Given the description of an element on the screen output the (x, y) to click on. 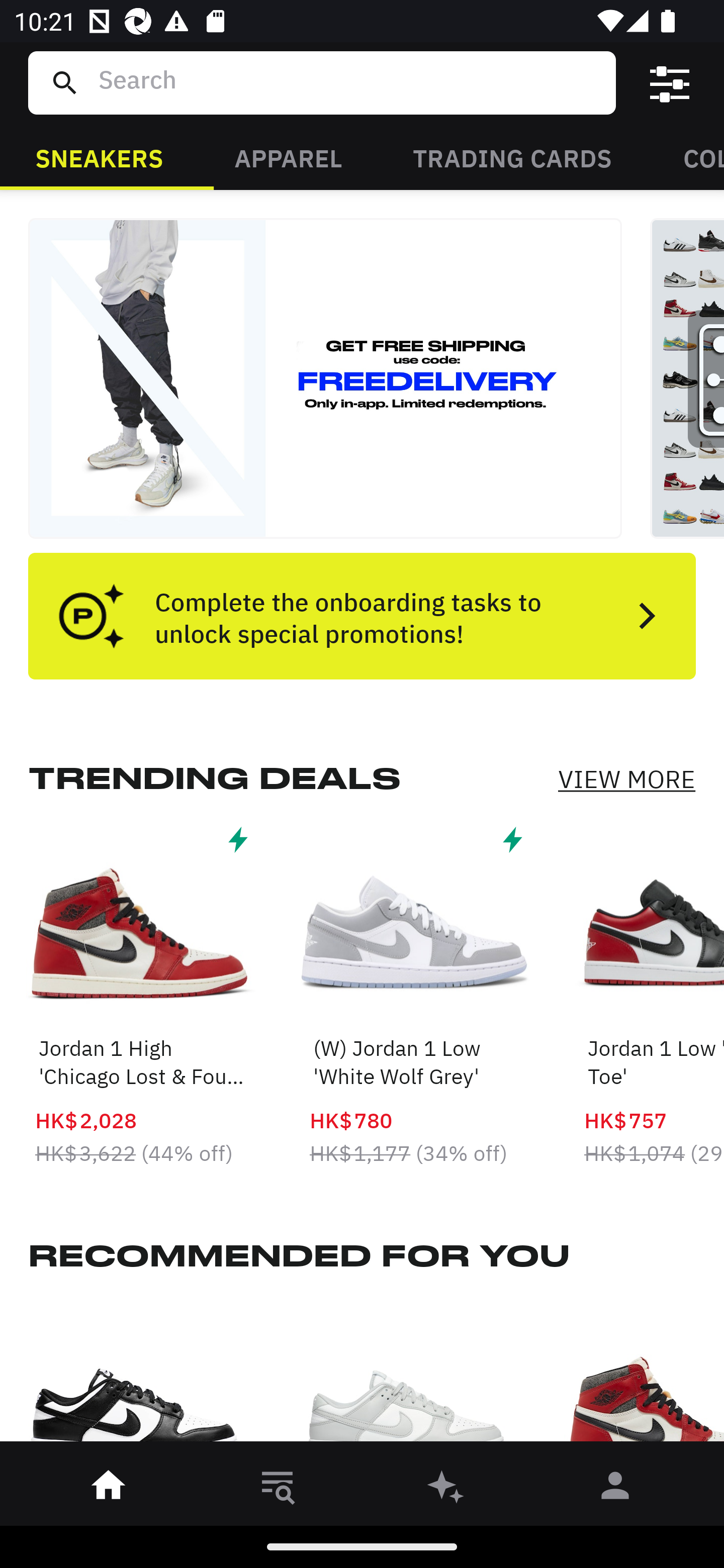
Search (349, 82)
 (669, 82)
SNEAKERS (99, 156)
APPAREL (287, 156)
TRADING CARDS (512, 156)
VIEW MORE (626, 779)
󰋜 (108, 1488)
󱎸 (277, 1488)
󰫢 (446, 1488)
󰀄 (615, 1488)
